Given the description of an element on the screen output the (x, y) to click on. 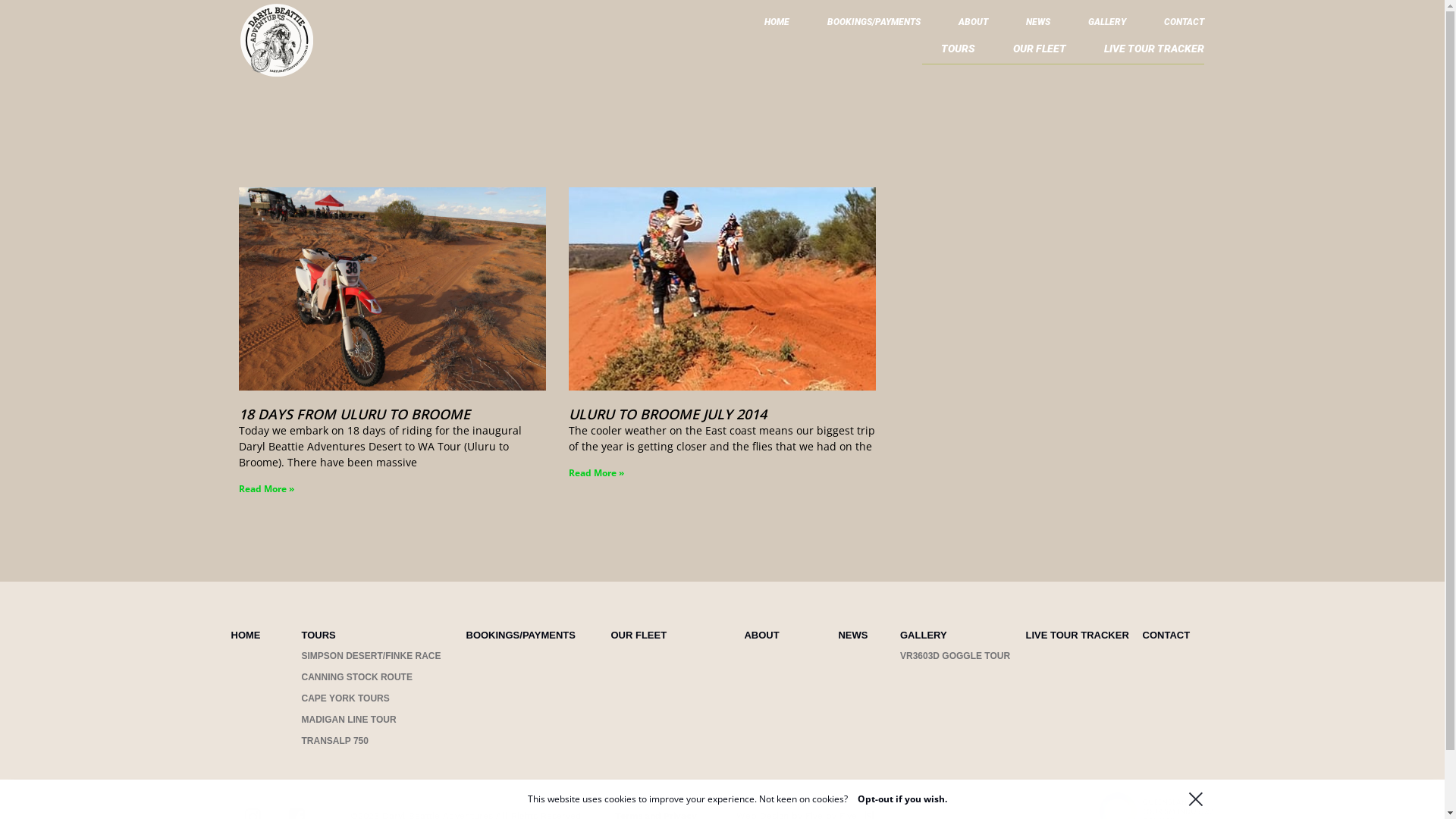
CONTACT Element type: text (1184, 25)
ABOUT Element type: text (973, 25)
NEWS Element type: text (1038, 25)
HOME Element type: text (776, 25)
TOURS Element type: text (318, 634)
TRANSALP 750 Element type: text (334, 740)
CONTACT Element type: text (1166, 634)
GALLERY Element type: text (923, 634)
VR3603D GOGGLE TOUR Element type: text (955, 655)
Opt-out if you wish. Element type: text (902, 798)
MADIGAN LINE TOUR Element type: text (348, 719)
LIVE TOUR TRACKER Element type: text (1154, 52)
18 DAYS FROM ULURU TO BROOME Element type: text (353, 413)
BOOKINGS/PAYMENTS Element type: text (519, 634)
ULURU TO BROOME JULY 2014 Element type: text (667, 413)
OUR FLEET Element type: text (638, 634)
OUR FLEET Element type: text (1039, 52)
LIVE TOUR TRACKER Element type: text (1077, 634)
GALLERY Element type: text (1107, 25)
Search Element type: text (1142, 36)
NEWS Element type: text (852, 634)
TOURS Element type: text (958, 52)
HOME Element type: text (245, 634)
ABOUT Element type: text (760, 634)
CAPE YORK TOURS Element type: text (345, 698)
BOOKINGS/PAYMENTS Element type: text (873, 25)
SIMPSON DESERT/FINKE RACE Element type: text (371, 655)
CANNING STOCK ROUTE Element type: text (356, 676)
